Given the description of an element on the screen output the (x, y) to click on. 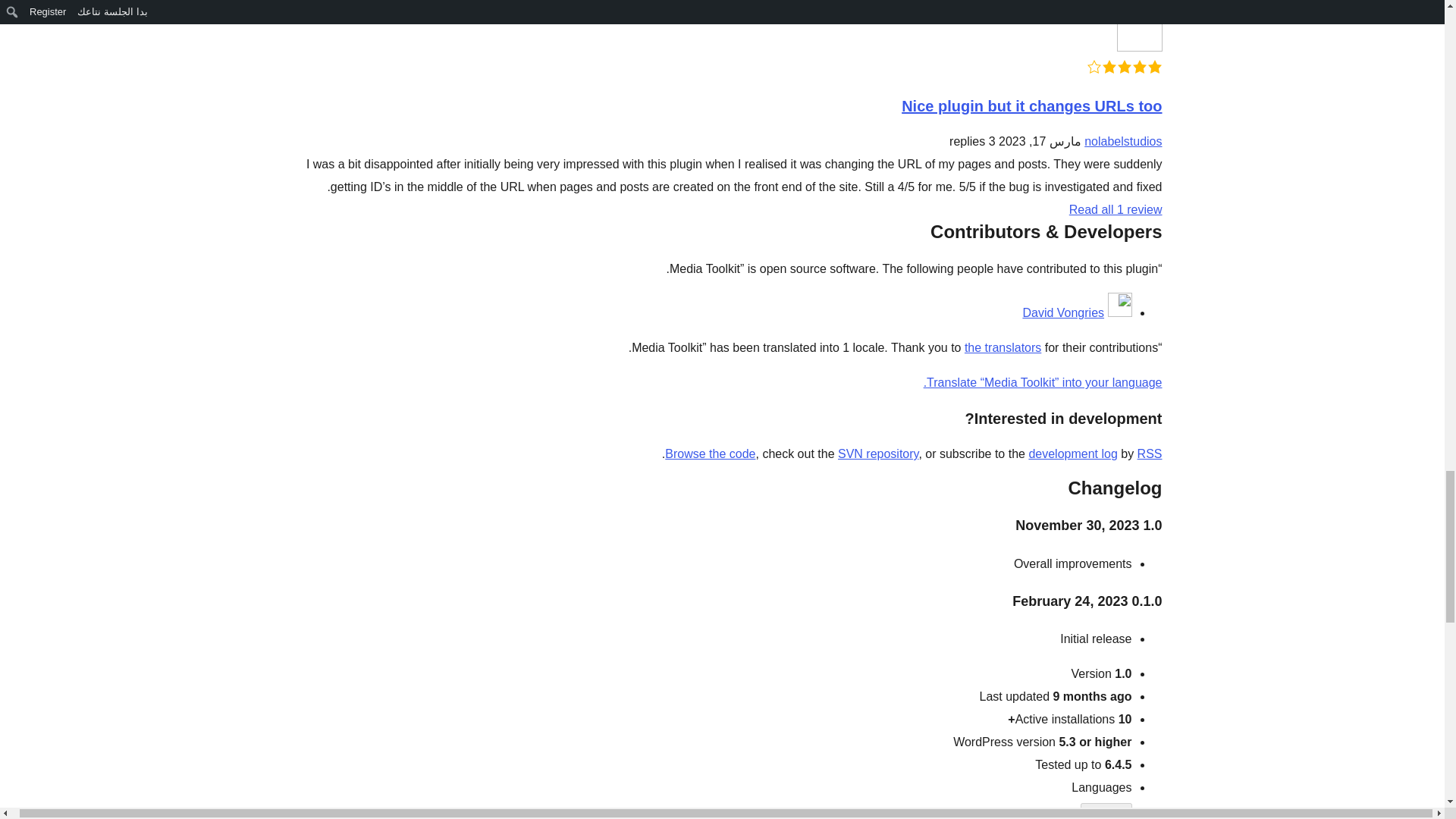
nolabelstudios (1122, 141)
Read all 1 review (1114, 209)
the translators (1002, 347)
Nice plugin but it changes URLs too (1031, 105)
David Vongries (1062, 312)
